Given the description of an element on the screen output the (x, y) to click on. 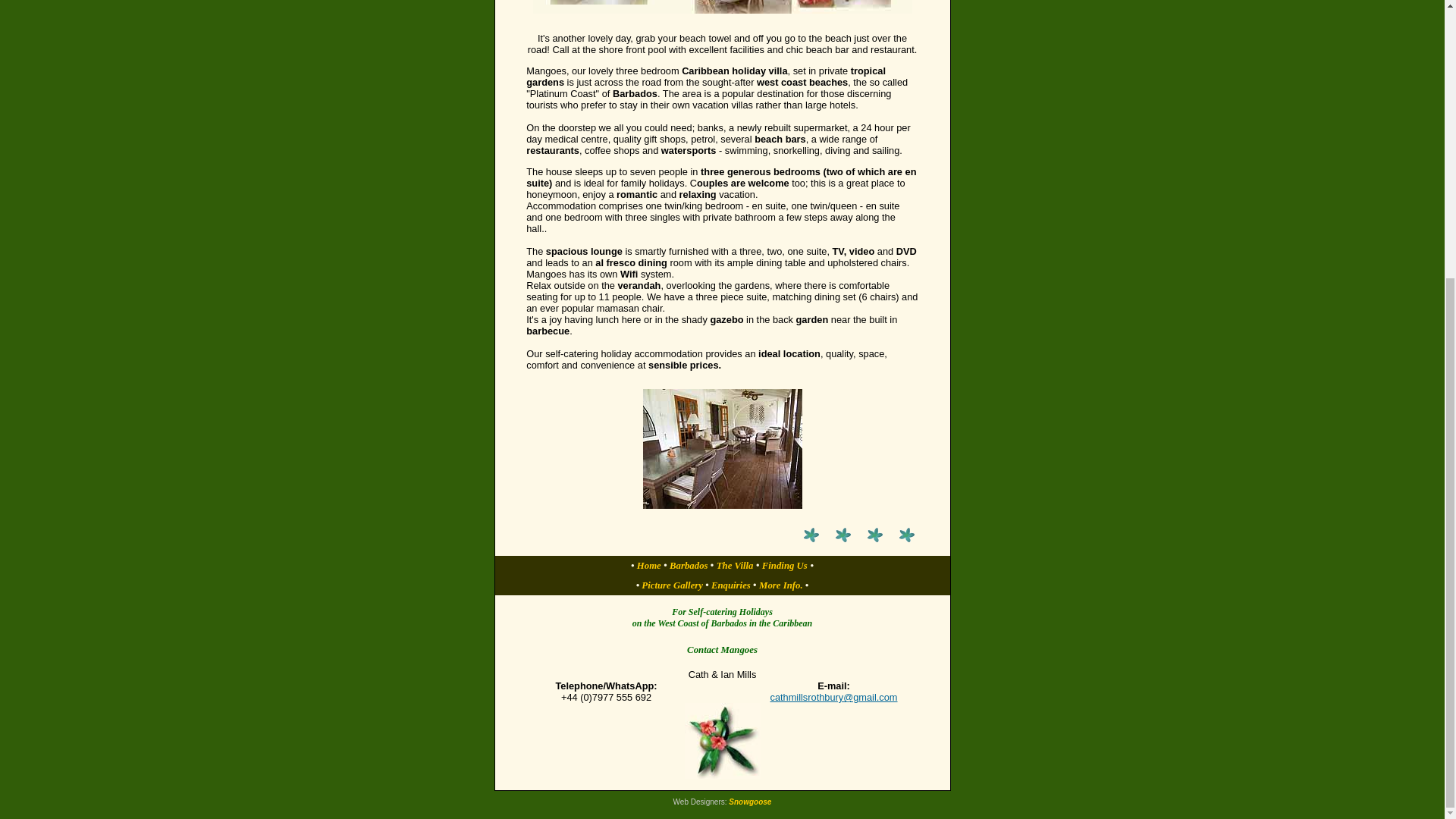
Picture Gallery (671, 584)
Barbados (688, 565)
Web Designers: Snowgoose (750, 801)
Enquiries (730, 584)
More Info. (781, 584)
Finding Us (784, 565)
Snowgoose (750, 801)
The Villa (735, 565)
